Given the description of an element on the screen output the (x, y) to click on. 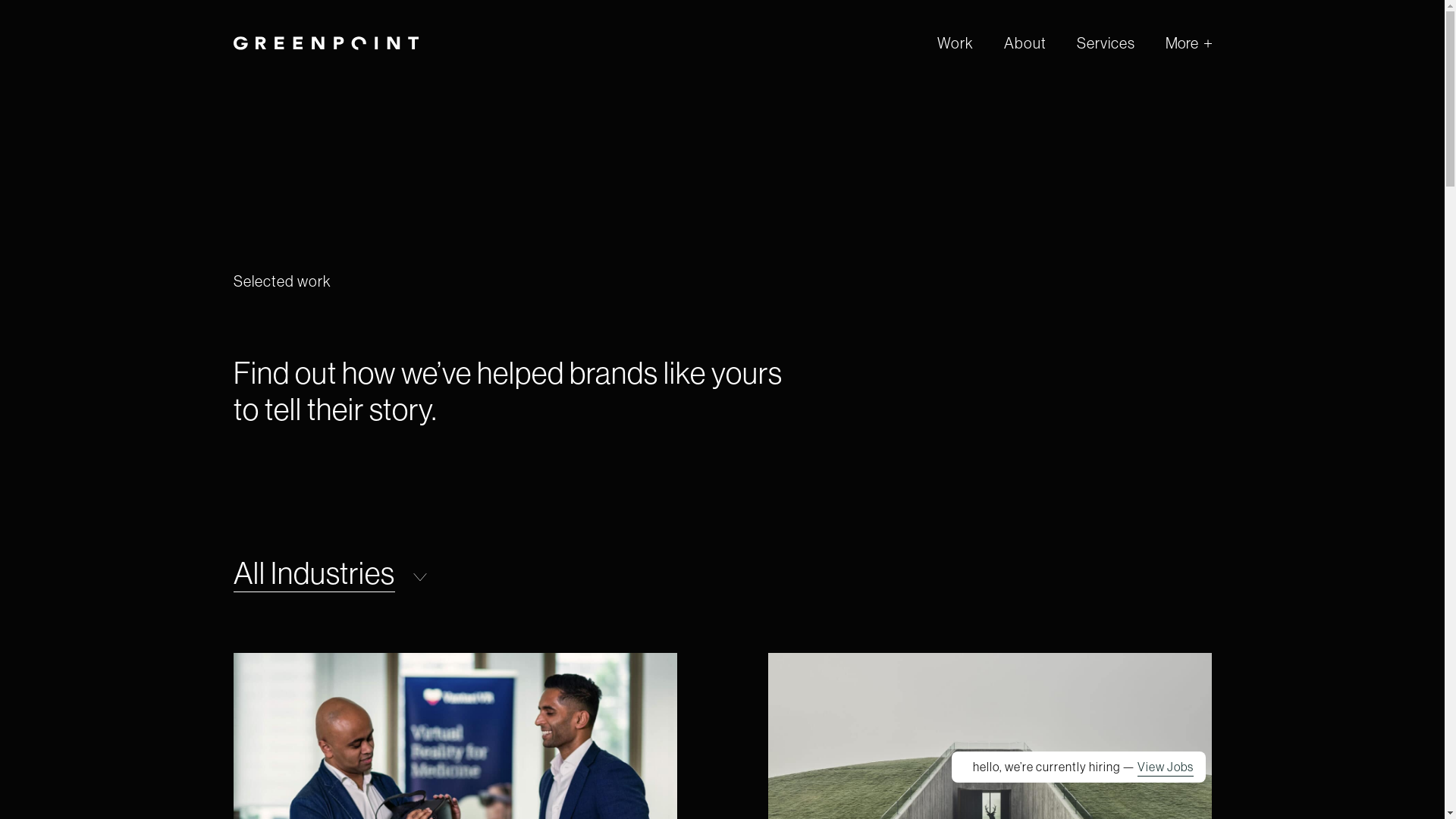
Services Element type: text (1105, 42)
Greenpoint Media Element type: hover (326, 43)
Work Element type: text (955, 42)
About Element type: text (1025, 42)
View Jobs Element type: text (1165, 766)
